Given the description of an element on the screen output the (x, y) to click on. 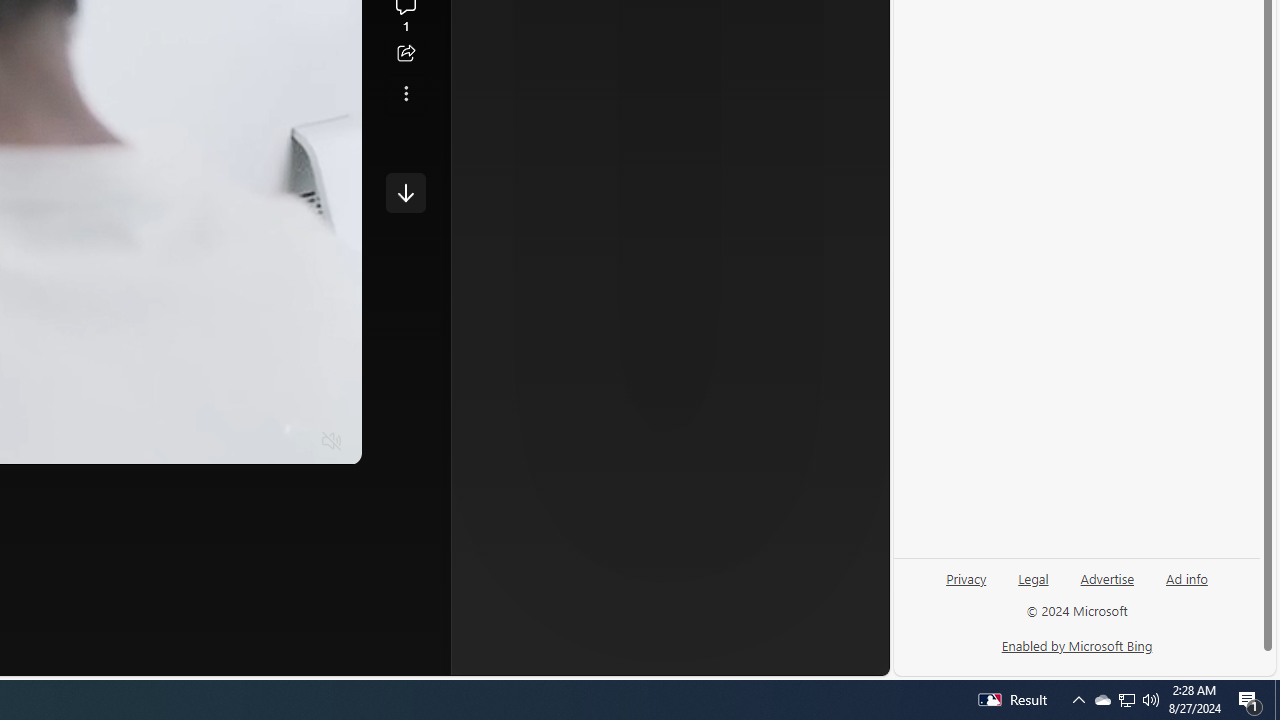
Fullscreen (293, 442)
Class: at-item detail-page (406, 93)
Class: control (406, 192)
Quality Settings (214, 442)
Share this story (406, 53)
AutomationID: e5rZOEMGacU1 (406, 192)
